Given the description of an element on the screen output the (x, y) to click on. 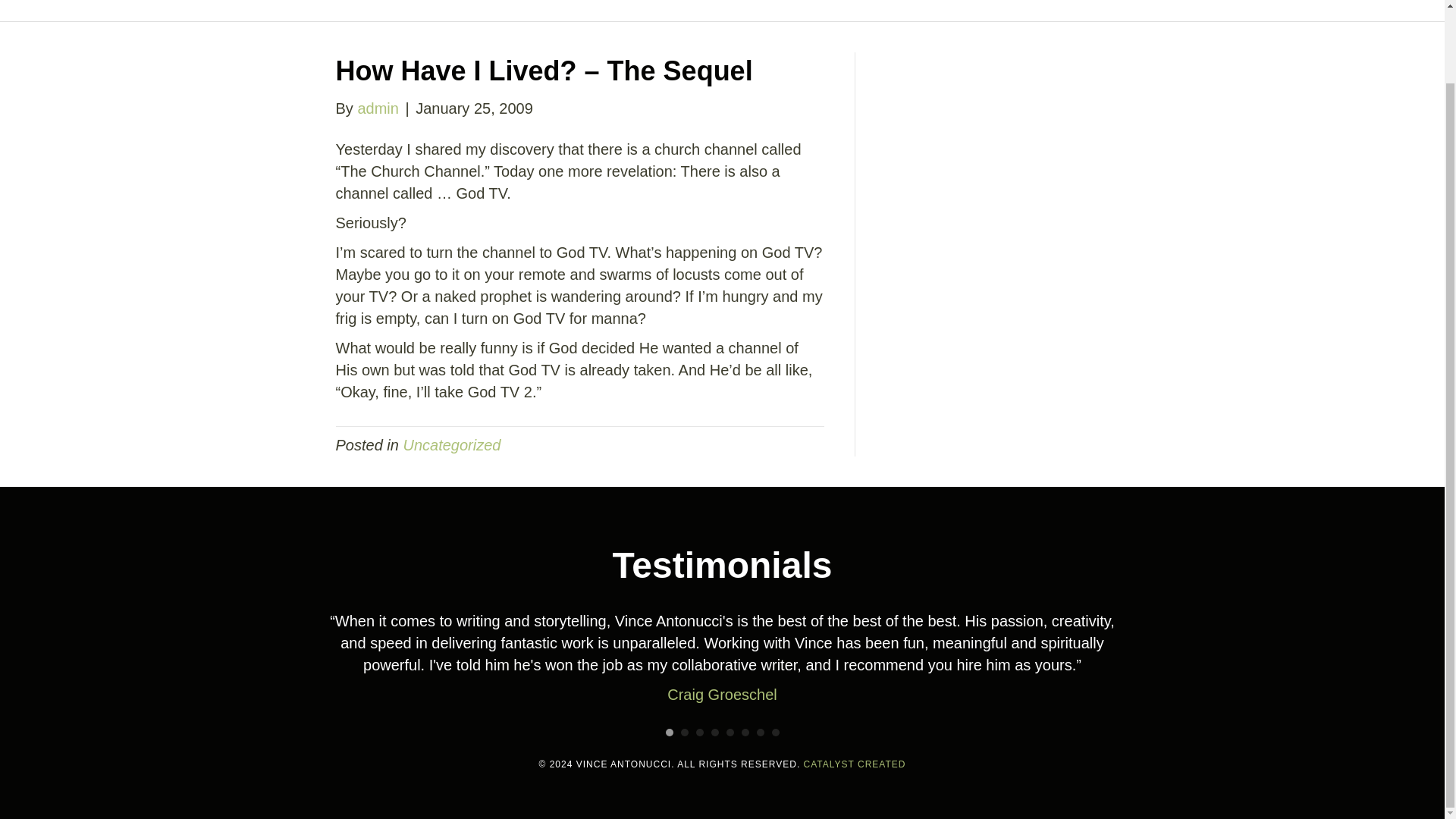
Uncategorized (451, 444)
6 (745, 732)
3 (699, 732)
CATALYST CREATED (854, 764)
8 (774, 732)
5 (729, 732)
2 (684, 732)
admin (376, 108)
7 (760, 732)
1 (668, 732)
